Given the description of an element on the screen output the (x, y) to click on. 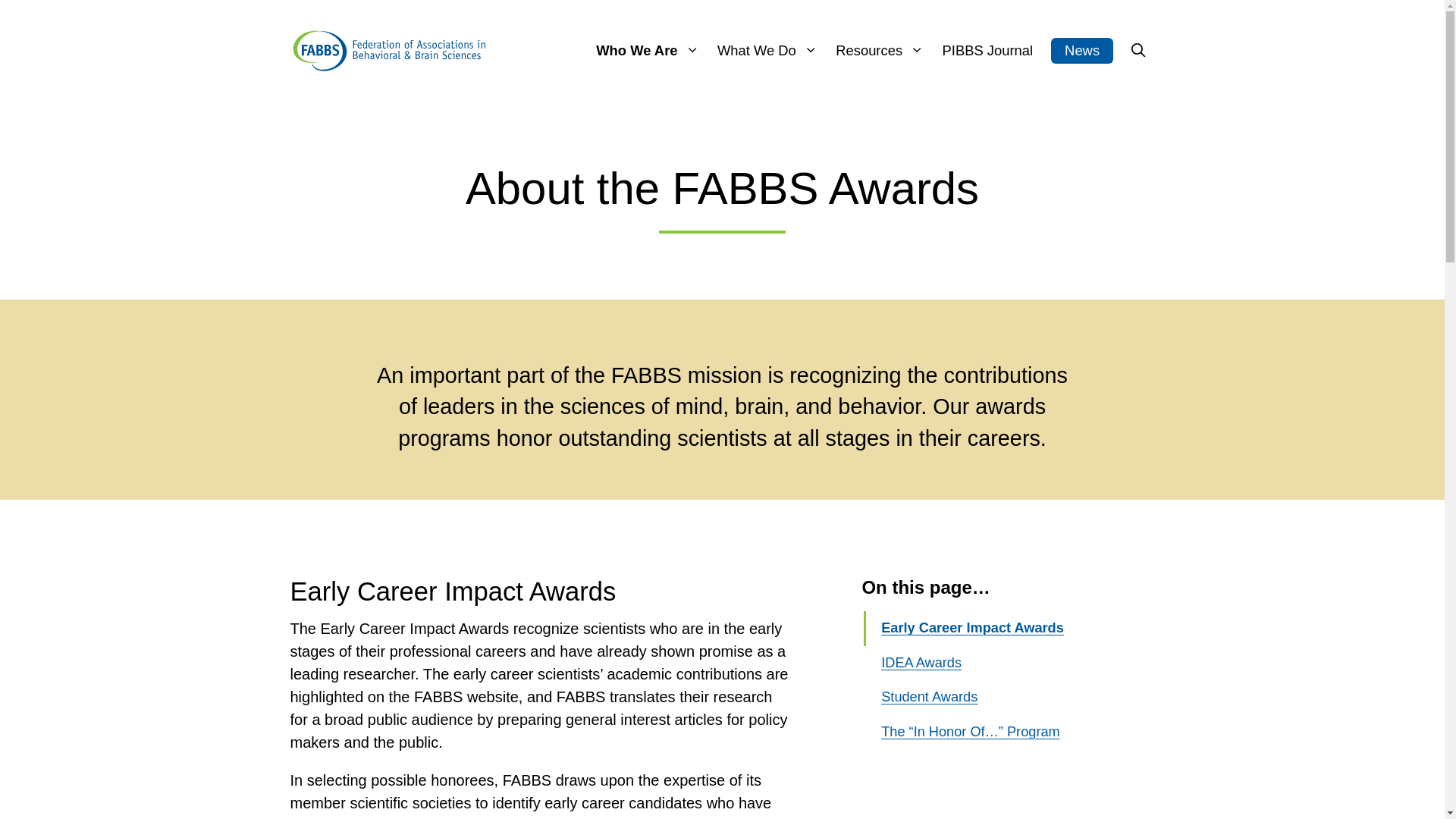
Resources (880, 50)
What We Do (767, 50)
Who We Are (646, 50)
